Given the description of an element on the screen output the (x, y) to click on. 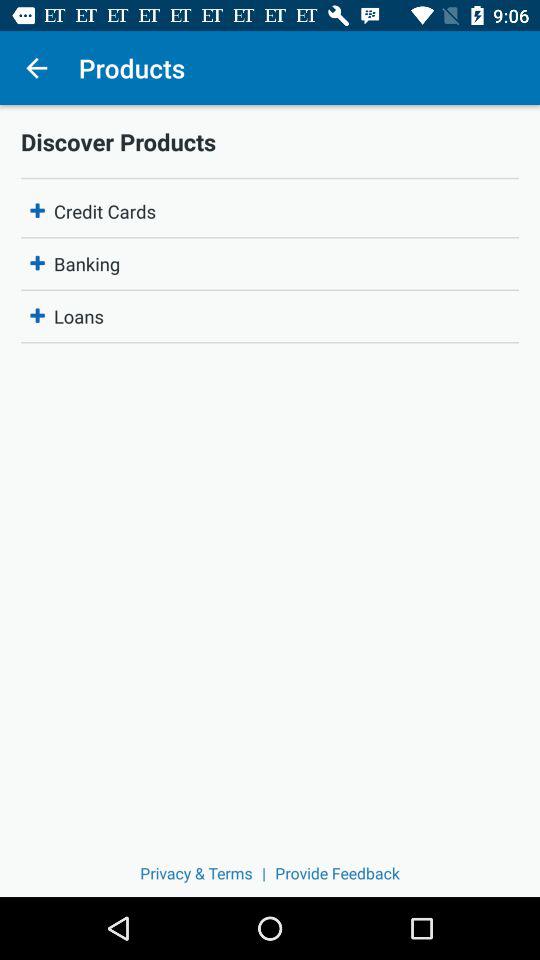
choose the privacy & terms (196, 872)
